Given the description of an element on the screen output the (x, y) to click on. 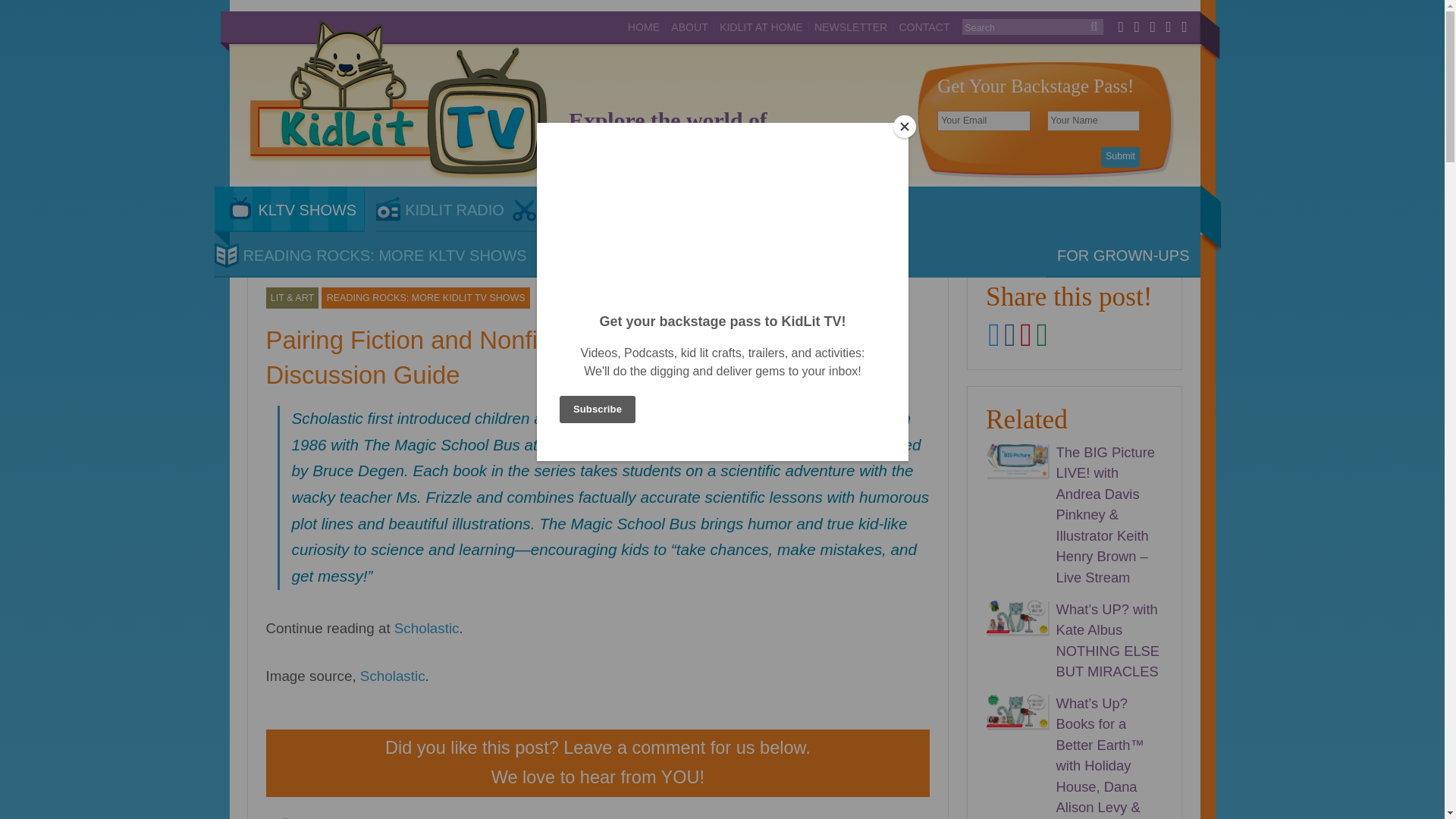
CONTACT (924, 27)
Submit (1120, 157)
Submit (1120, 157)
KidLit TV (398, 101)
HOME (644, 27)
NEWSLETTER (851, 27)
ABOUT (689, 27)
View all posts in Reading Rocks: MORE KidLit TV Shows (425, 297)
KLTV SHOWS (289, 208)
KIDLIT AT HOME (761, 27)
